Given the description of an element on the screen output the (x, y) to click on. 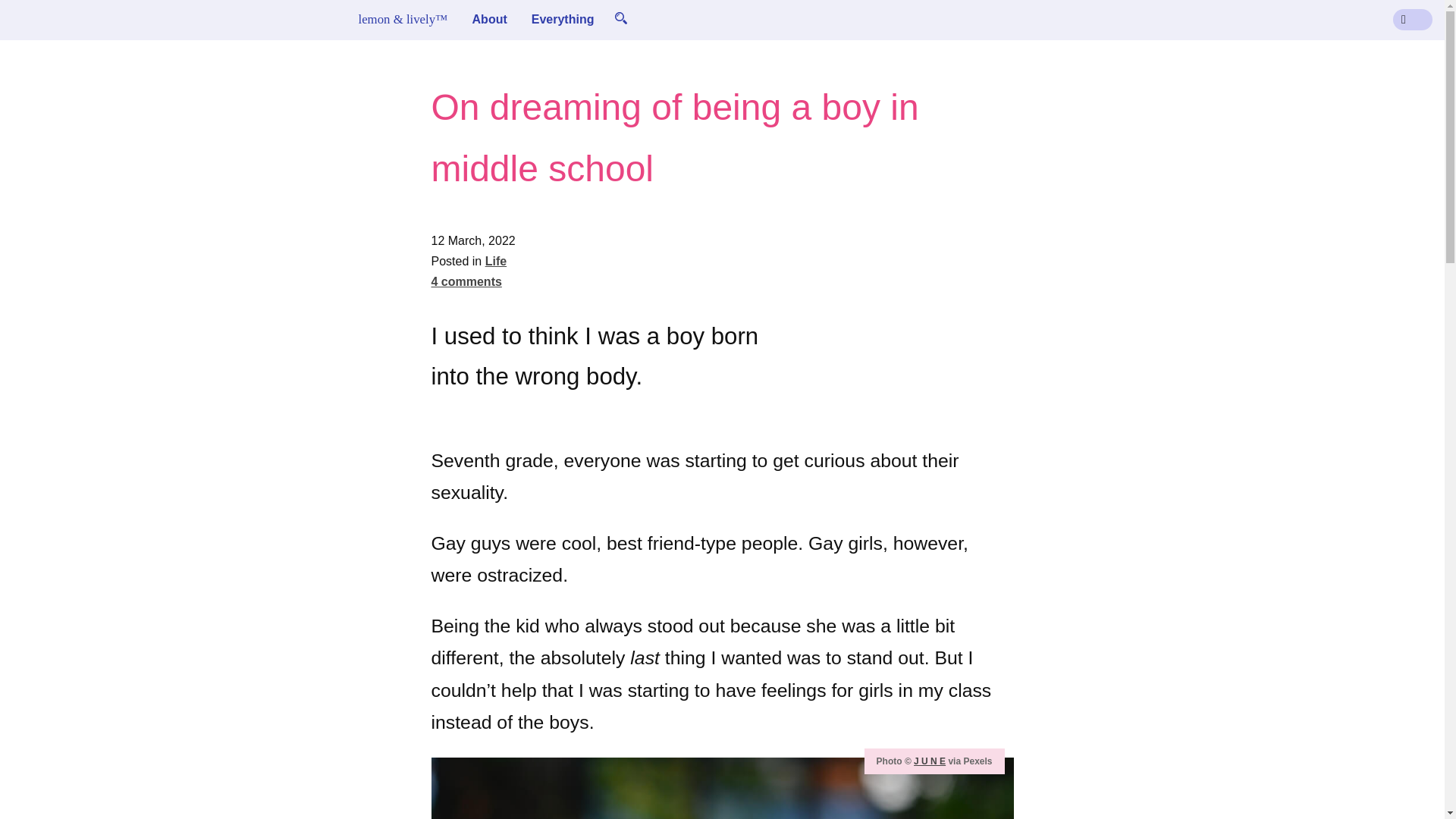
About (489, 18)
Everything (563, 18)
J U N E (929, 760)
4 comments (465, 281)
Life (495, 260)
Skip to content (43, 18)
